Given the description of an element on the screen output the (x, y) to click on. 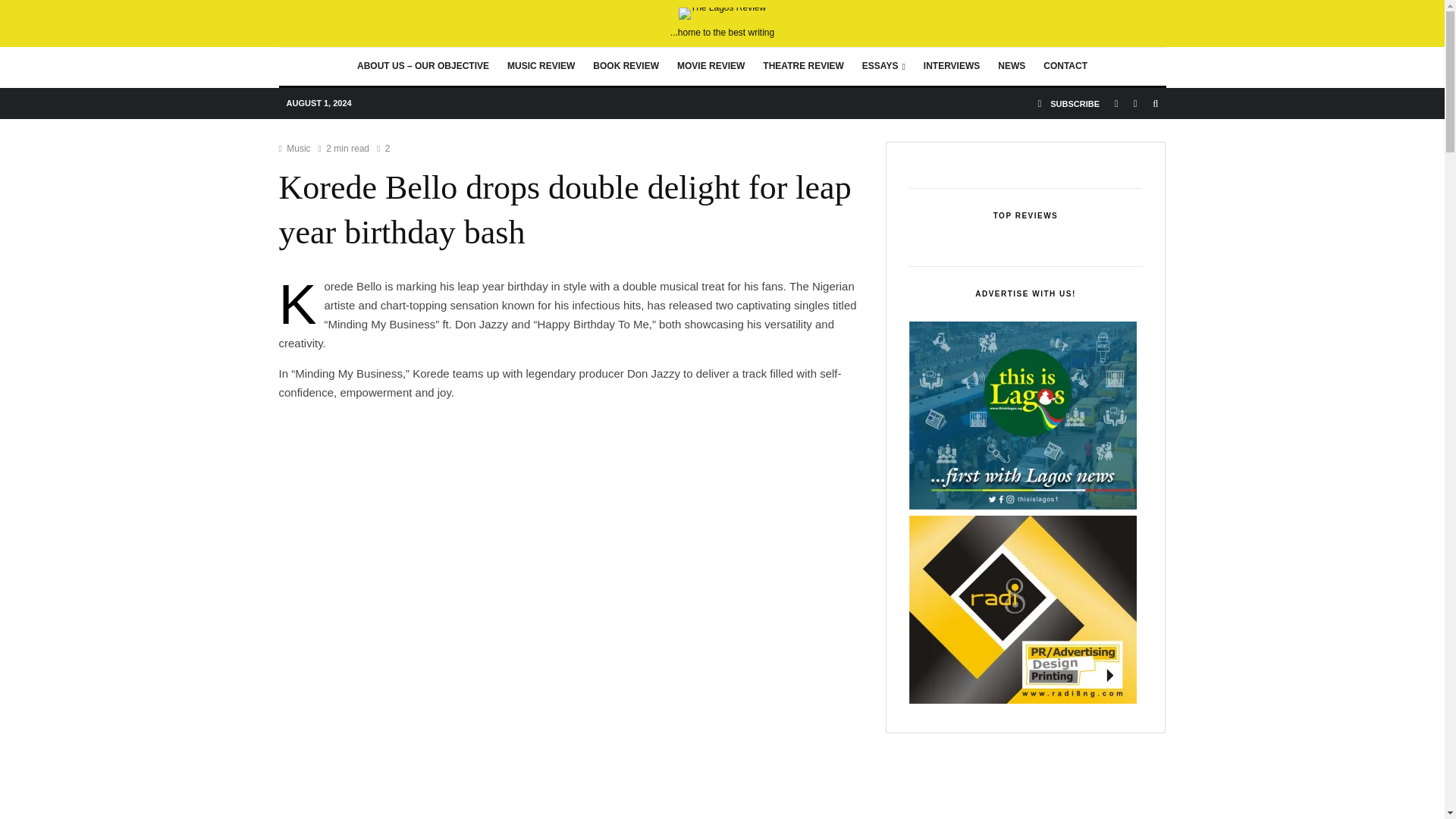
THEATRE REVIEW (802, 66)
...home to the best writing (721, 23)
BOOK REVIEW (625, 66)
MOVIE REVIEW (711, 66)
MUSIC REVIEW (540, 66)
